Given the description of an element on the screen output the (x, y) to click on. 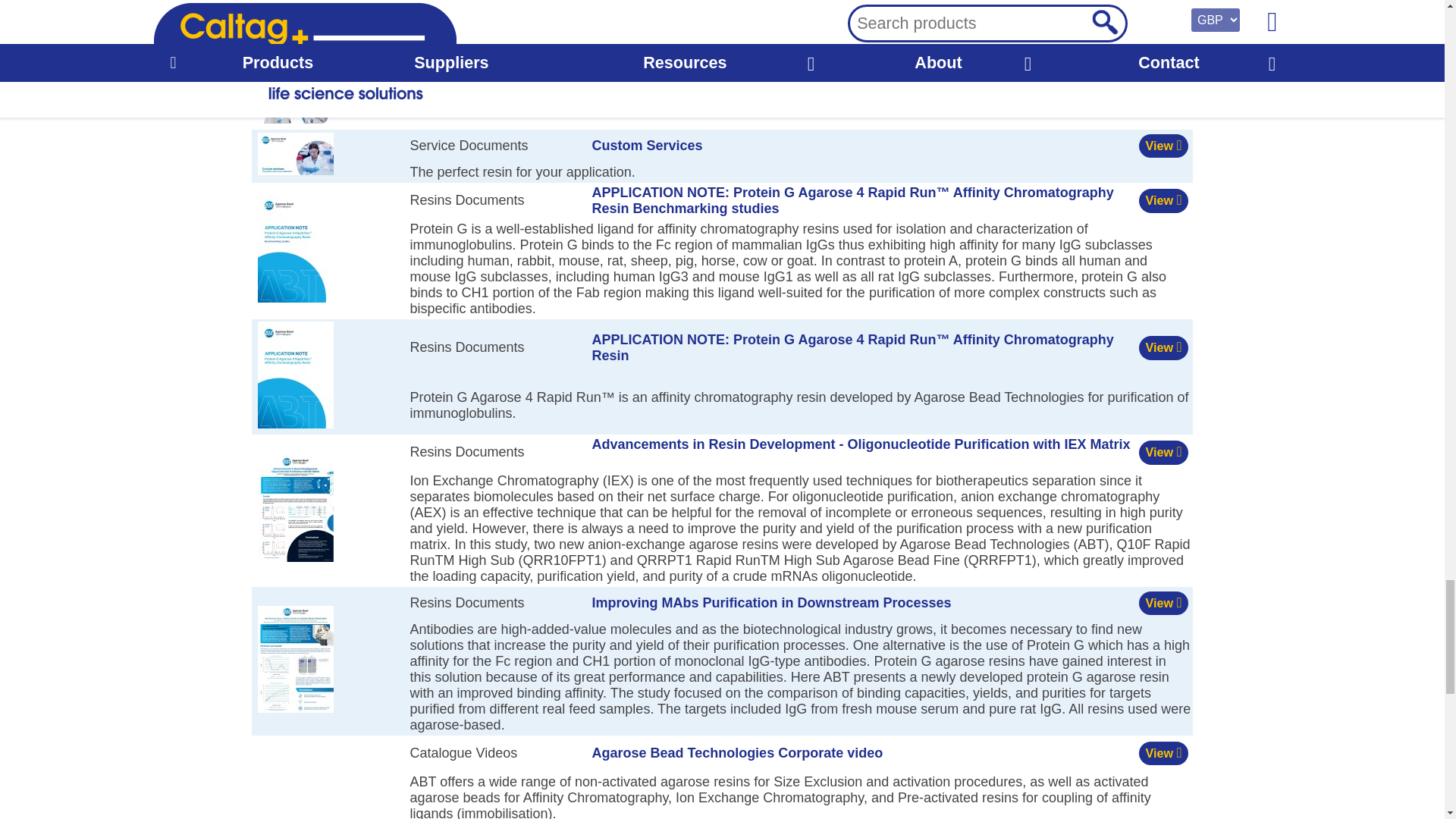
Custom Services (295, 153)
Agarose Bead Technologies Corporate video (329, 778)
GLYOXAL AGAROSE (295, 4)
